Given the description of an element on the screen output the (x, y) to click on. 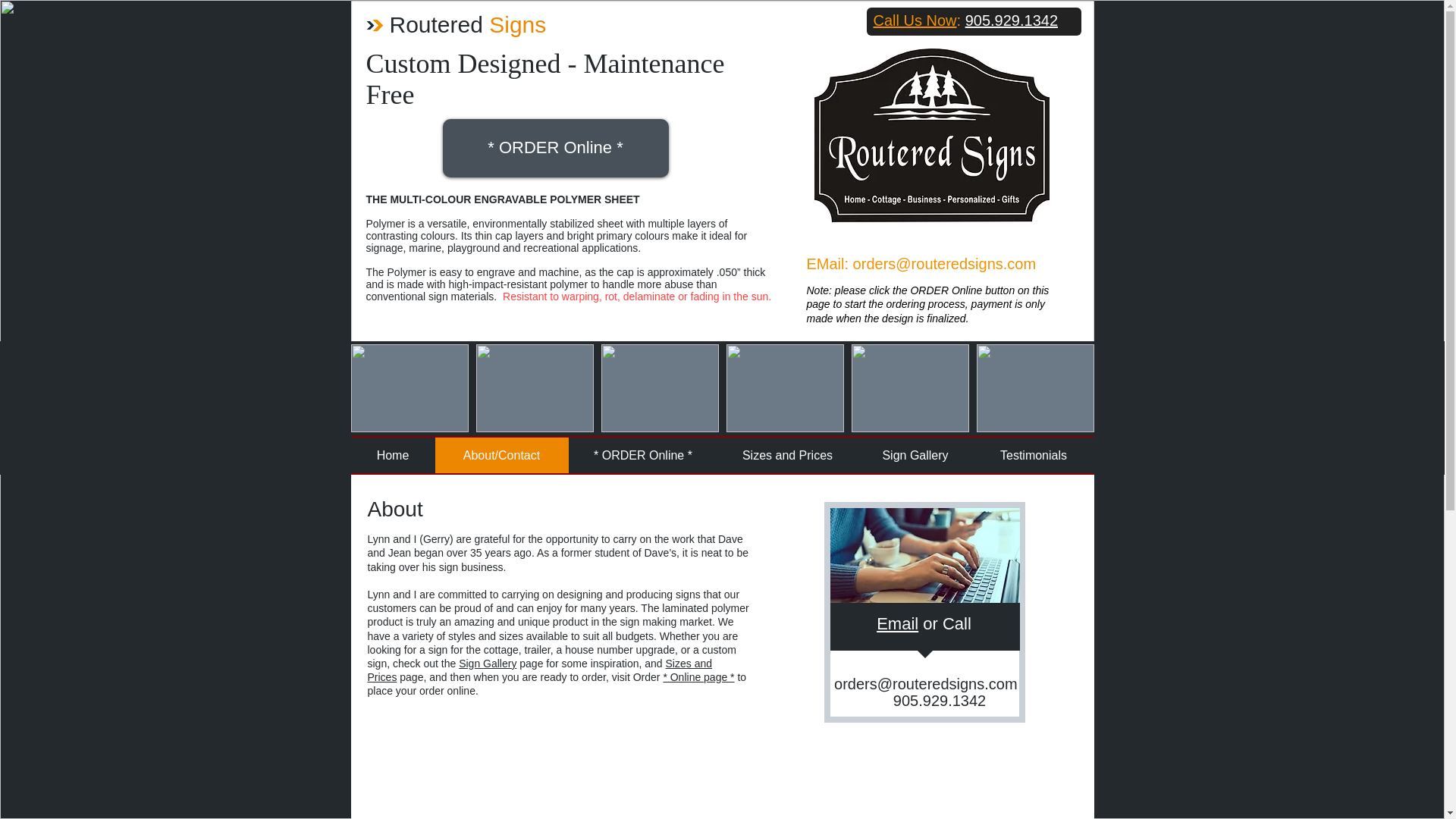
Call Us Now (914, 20)
905.929.1342 (1011, 20)
Sizes and Prices (538, 670)
Routered Signs (468, 24)
Testimonials (1034, 455)
Sign Gallery (487, 663)
Sizes and Prices (787, 455)
Home (391, 455)
Email (897, 623)
Sign Gallery (914, 455)
